Given the description of an element on the screen output the (x, y) to click on. 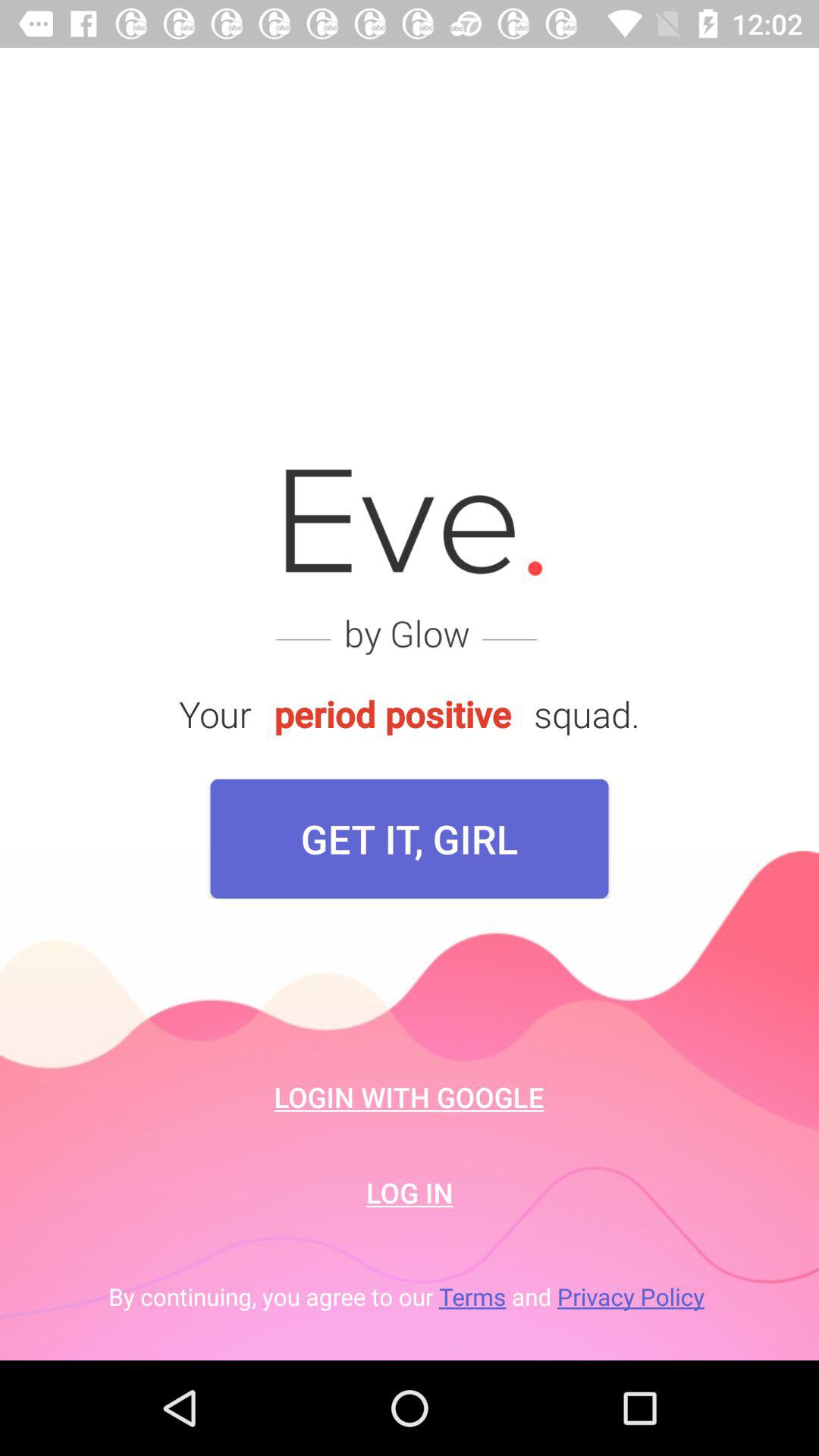
flip until log in  icon (409, 1192)
